Given the description of an element on the screen output the (x, y) to click on. 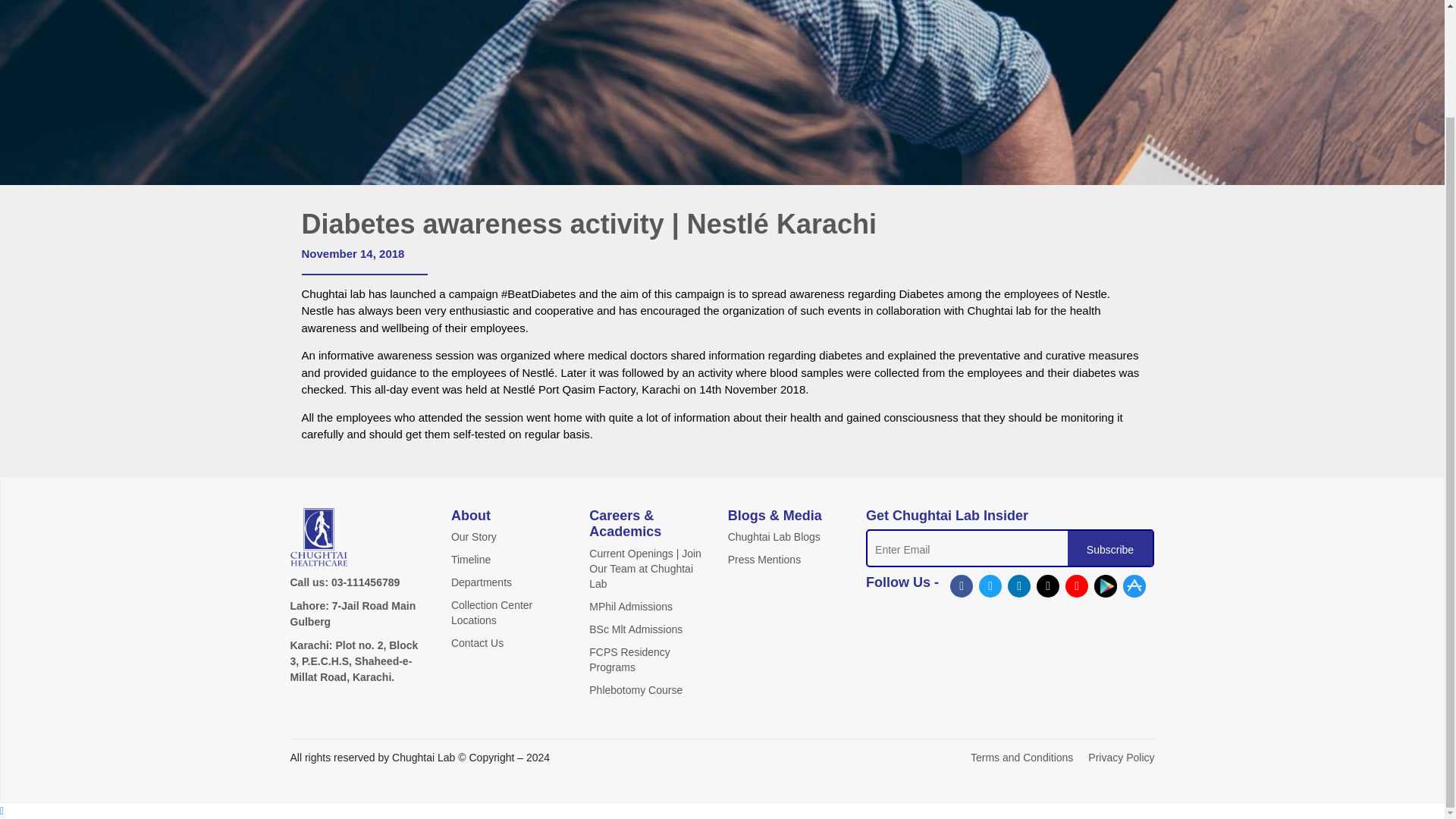
Chughtai Lab - LinkedIn (1018, 585)
Chughtai Lab - Instagram (1047, 585)
Subscribe (1110, 549)
Chughtai Lab IPhone (1133, 585)
Chughtai Lab - Facebook (961, 585)
Chughtai Lab - Twitter (989, 585)
Chughtai Lab Android (1105, 585)
Chughtai Lab - Youtube (1076, 585)
